Given the description of an element on the screen output the (x, y) to click on. 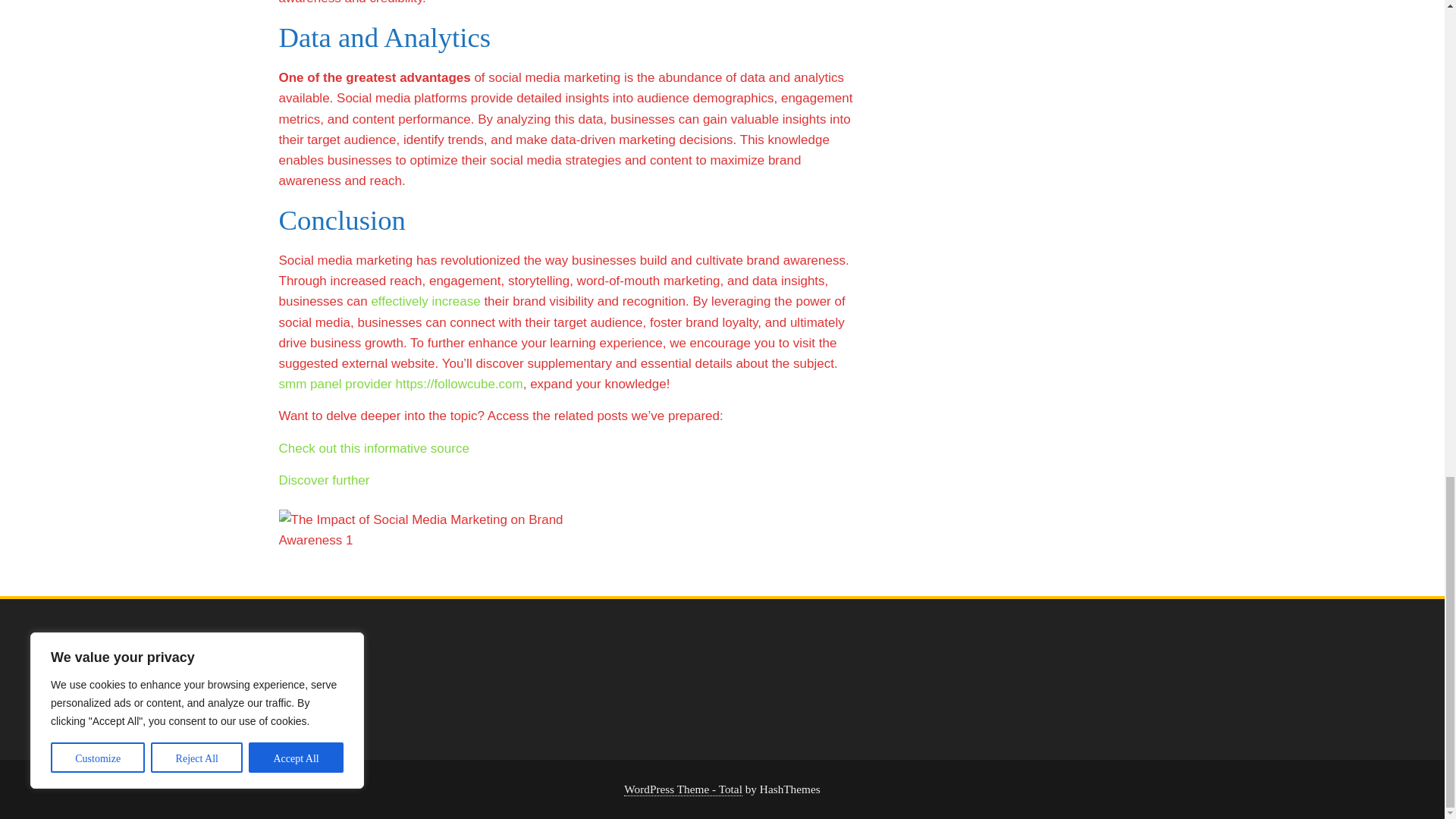
effectively increase (425, 301)
Discover further (324, 480)
Check out this informative source (373, 448)
